Given the description of an element on the screen output the (x, y) to click on. 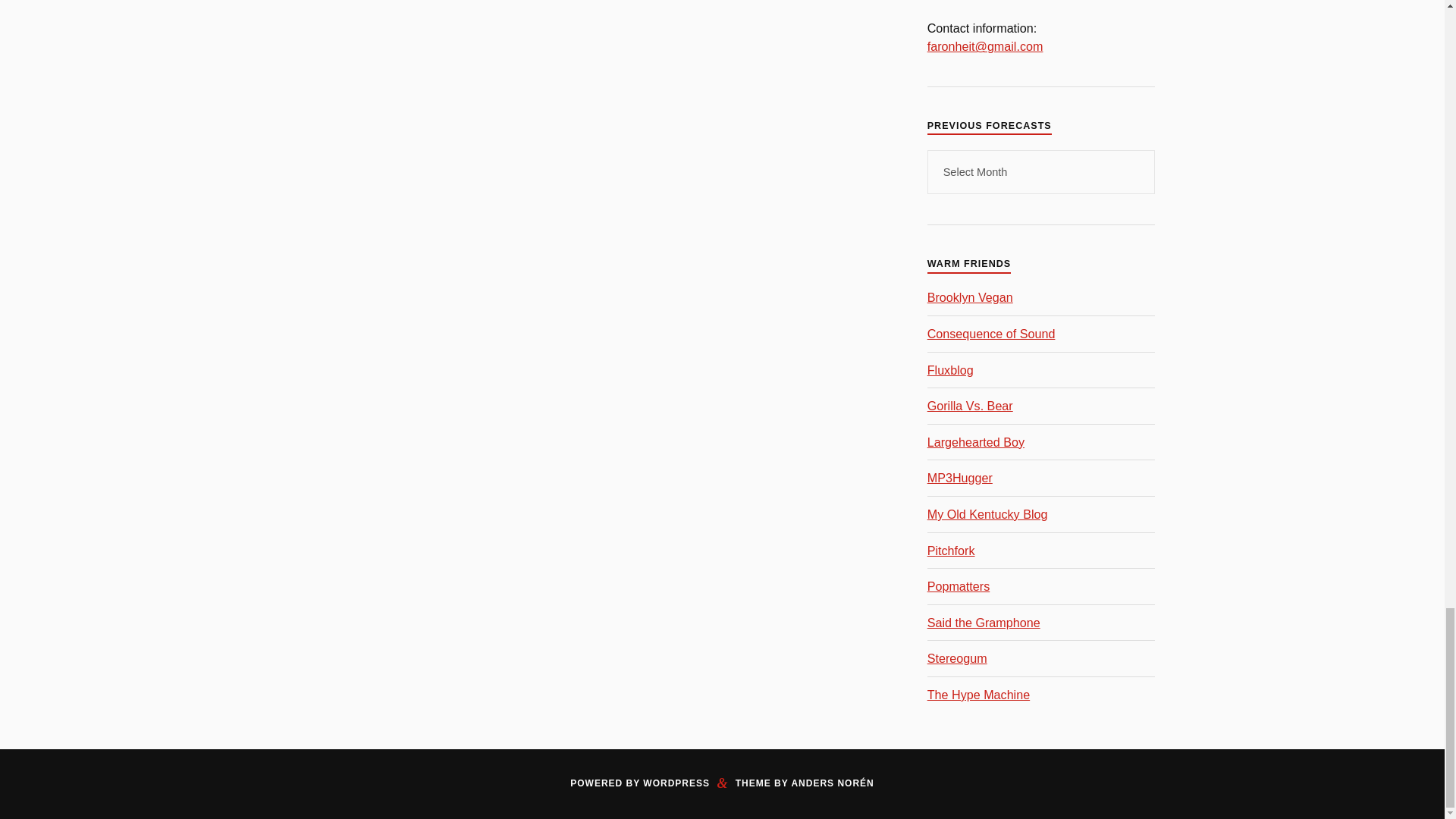
Music news and festival rumors (991, 333)
Brooklyn Vegan (970, 296)
My goal is to turn him into Brooklyn Meateater (970, 296)
The bear would totally win (970, 405)
Consequence of Sound (991, 333)
The first-ever music blog (950, 369)
